Given the description of an element on the screen output the (x, y) to click on. 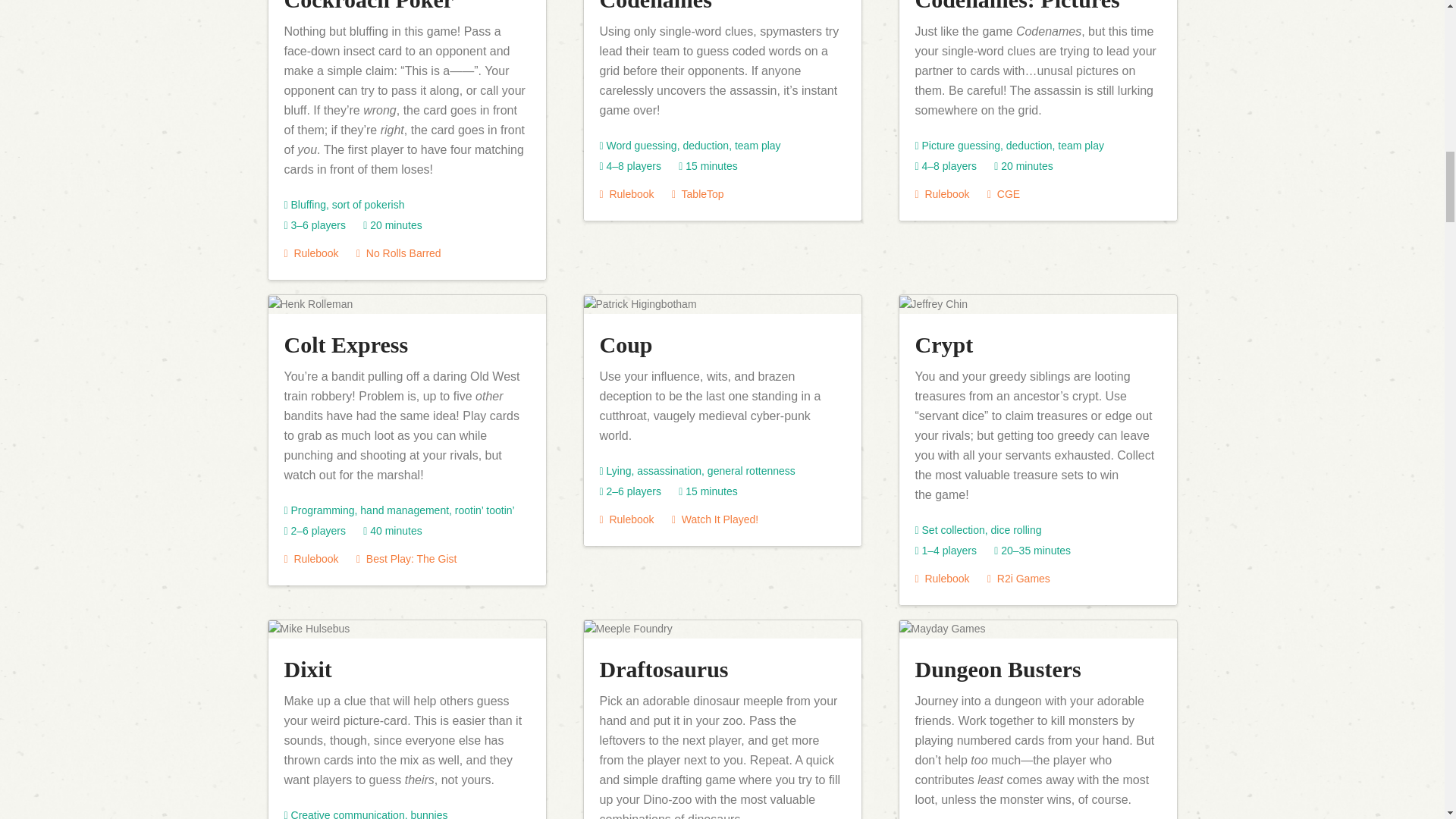
  No Rolls Barred (398, 253)
  Rulebook (625, 193)
  CGE (1003, 193)
Coup (625, 344)
 TableTop (697, 193)
  Rulebook (310, 253)
 Best Play: The Gist (406, 558)
Codenames: Pictures (1016, 6)
Colt Express (345, 344)
Cockroach Poker (367, 6)
